Given the description of an element on the screen output the (x, y) to click on. 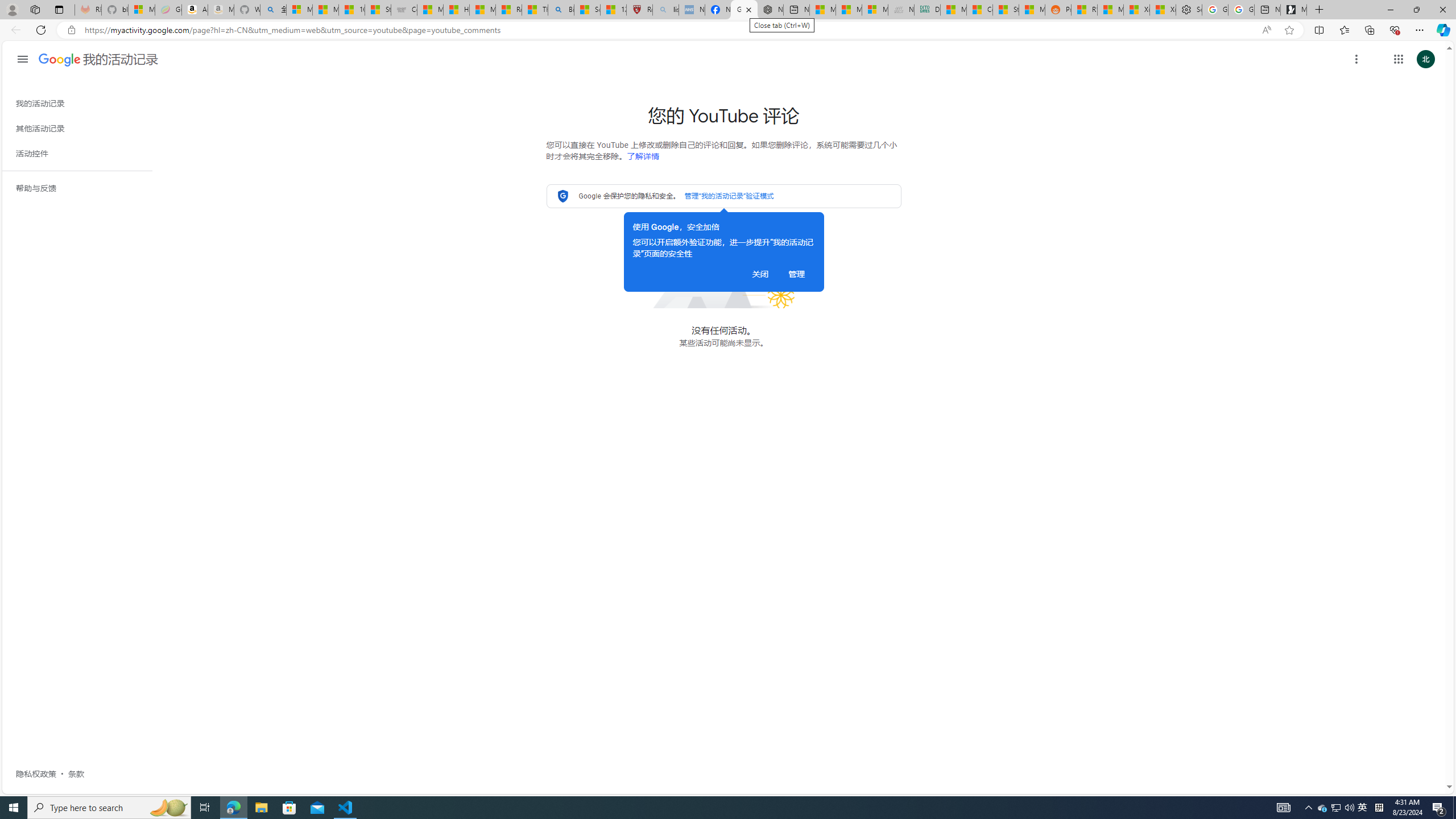
Microsoft-Report a Concern to Bing (141, 9)
Recipes - MSN (508, 9)
NCL Adult Asthma Inhaler Choice Guideline - Sleeping (692, 9)
Microsoft account | Privacy (299, 9)
list of asthma inhalers uk - Search - Sleeping (665, 9)
